Given the description of an element on the screen output the (x, y) to click on. 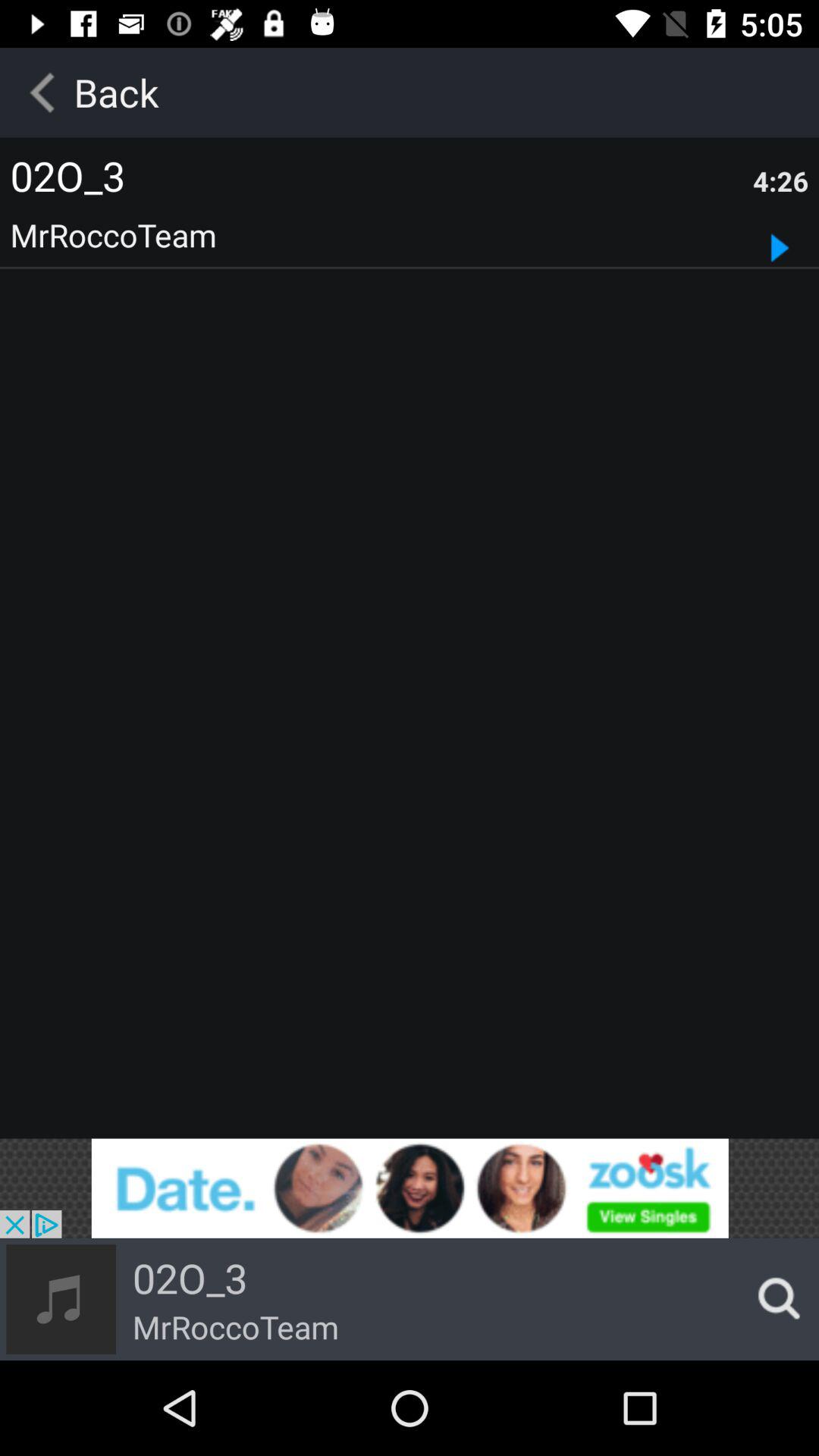
click to the search (773, 1298)
